Given the description of an element on the screen output the (x, y) to click on. 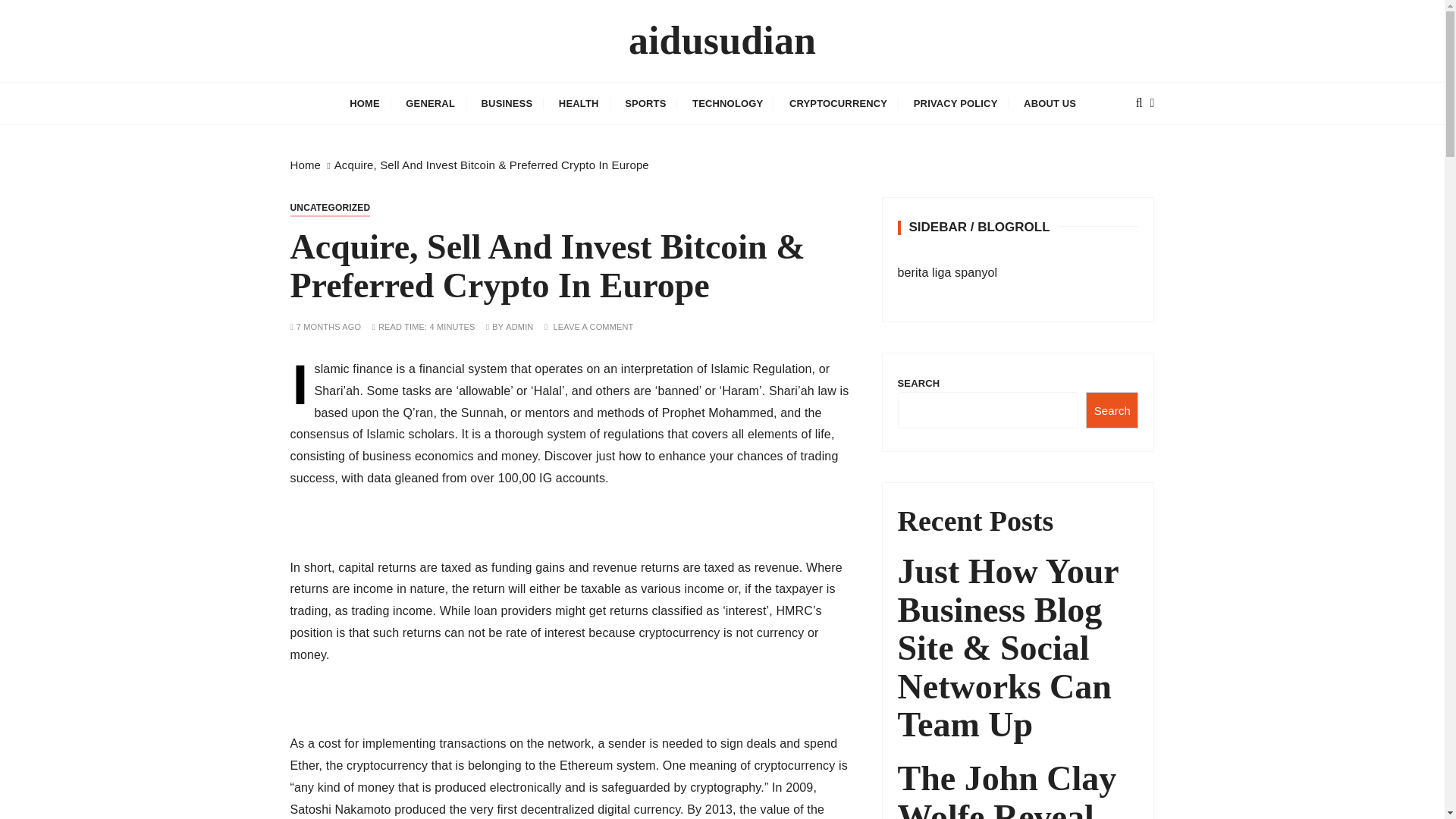
LEAVE A COMMENT (593, 326)
BUSINESS (507, 103)
Search (1112, 410)
HEALTH (578, 103)
CRYPTOCURRENCY (837, 103)
ADMIN (518, 326)
HOME (364, 103)
UNCATEGORIZED (329, 208)
Home (304, 164)
SPORTS (644, 103)
ABOUT US (1049, 103)
berita liga spanyol (947, 272)
TECHNOLOGY (727, 103)
The John Clay Wolfe Reveal John Clay Wolfe (1018, 789)
berita liga spanyol (947, 272)
